Given the description of an element on the screen output the (x, y) to click on. 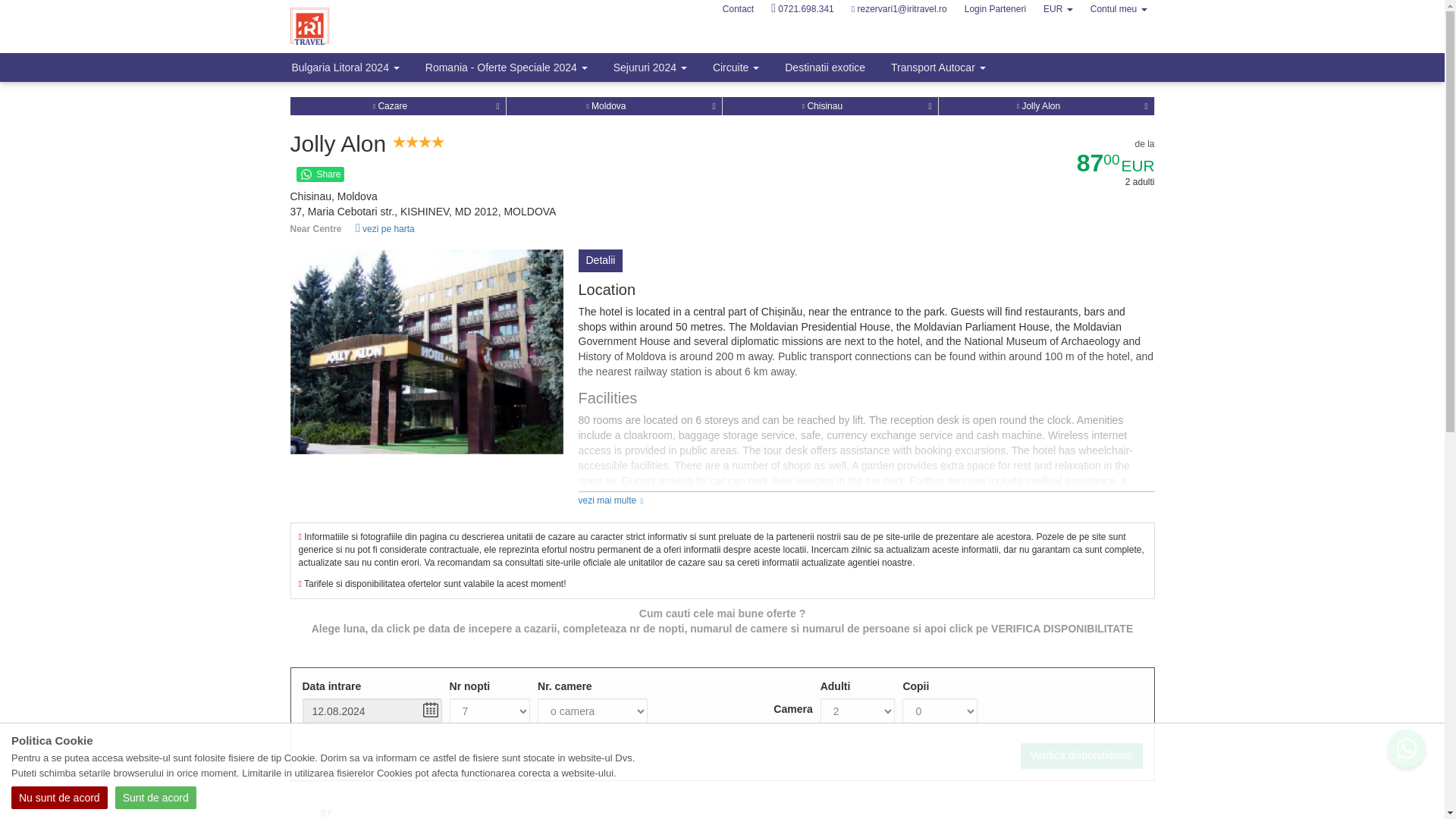
12.08.2024 (371, 710)
Bulgaria Litoral 2024 (345, 67)
Near Centre (574, 229)
Romania - Oferte Speciale 2024 (505, 67)
Discuta on-line cu un agent pe WhatsApp (1403, 746)
Quick-Sell Logo (367, 26)
Sejururi 2024 (649, 67)
